Given the description of an element on the screen output the (x, y) to click on. 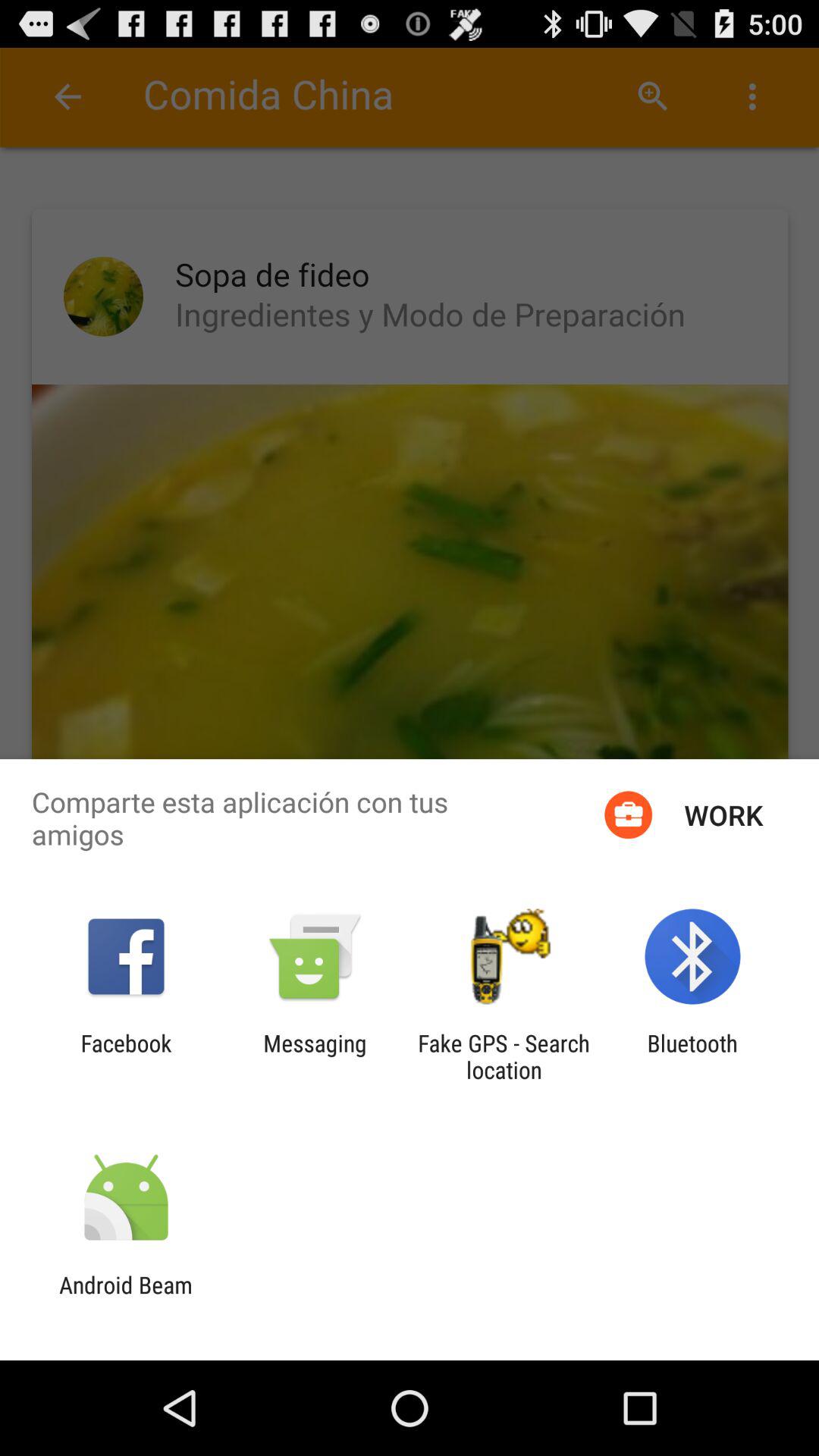
jump to fake gps search icon (503, 1056)
